Given the description of an element on the screen output the (x, y) to click on. 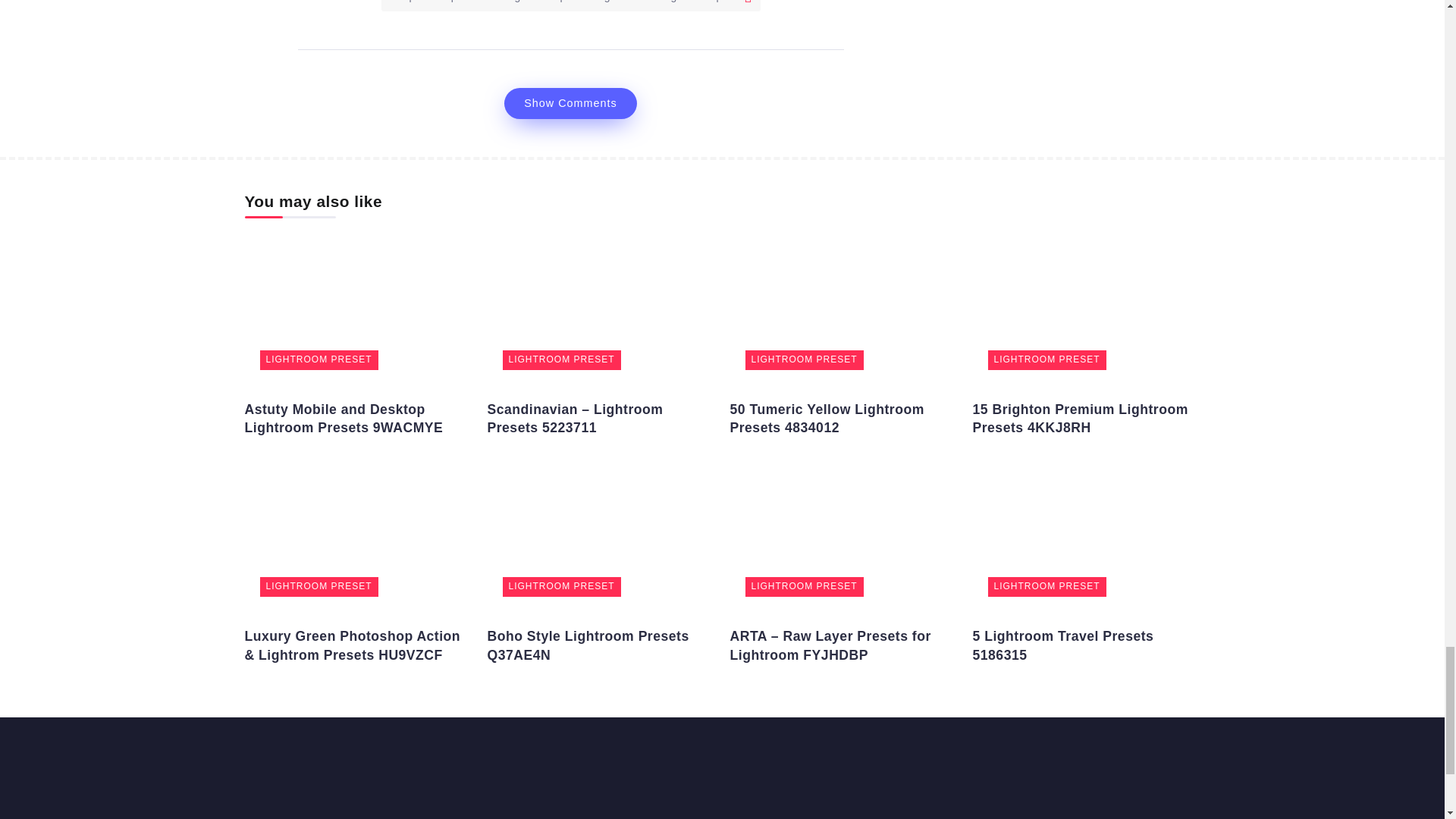
Astuty Mobile and Desktop Lightroom Presets 9WACMYE (343, 418)
Show Comments (570, 102)
Astuty Mobile and Desktop Lightroom Presets 9WACMYE (357, 308)
